Given the description of an element on the screen output the (x, y) to click on. 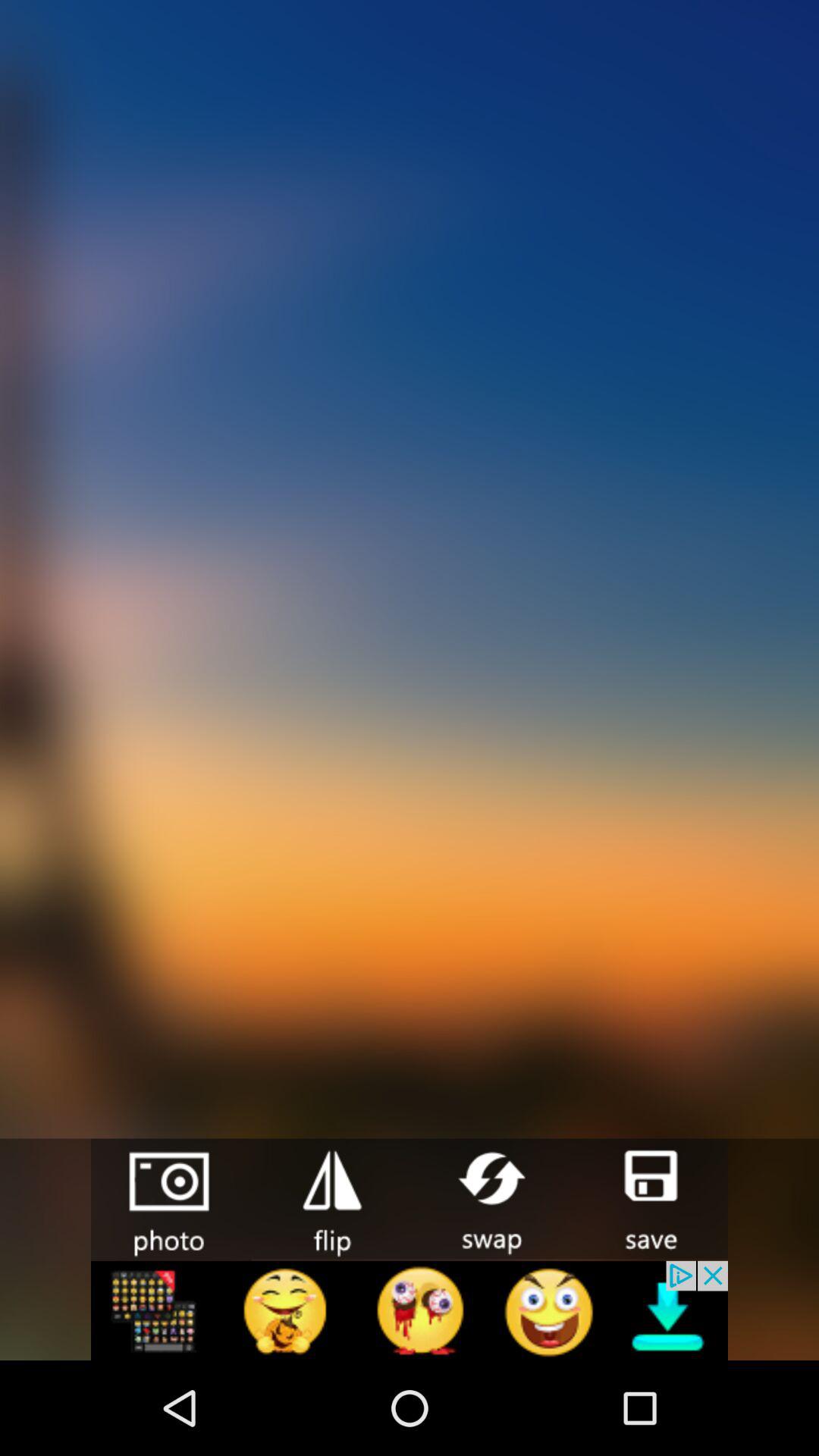
take a photo (171, 1199)
